Given the description of an element on the screen output the (x, y) to click on. 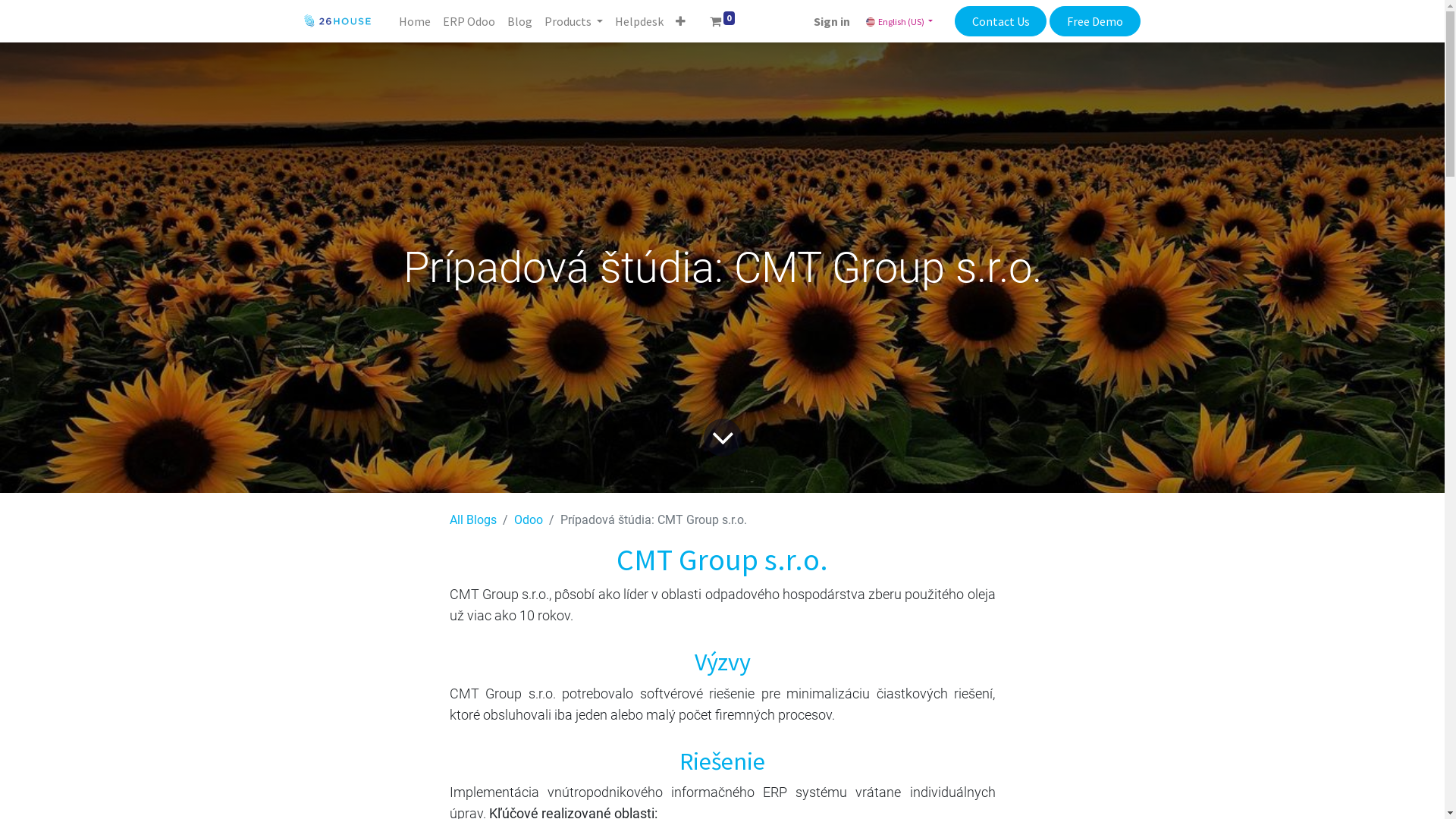
Blog Element type: text (518, 21)
Contact Us Element type: text (1000, 21)
ERP Odoo Element type: text (468, 21)
All Blogs Element type: text (471, 519)
26HOUSE Element type: hover (337, 21)
Helpdesk Element type: text (638, 21)
Free Demo Element type: text (1094, 21)
To blog content Element type: hover (720, 435)
English (US) Element type: text (899, 21)
Home Element type: text (414, 21)
0 Element type: text (722, 21)
Products Element type: text (573, 21)
Sign in Element type: text (831, 21)
Odoo Element type: text (528, 519)
